Given the description of an element on the screen output the (x, y) to click on. 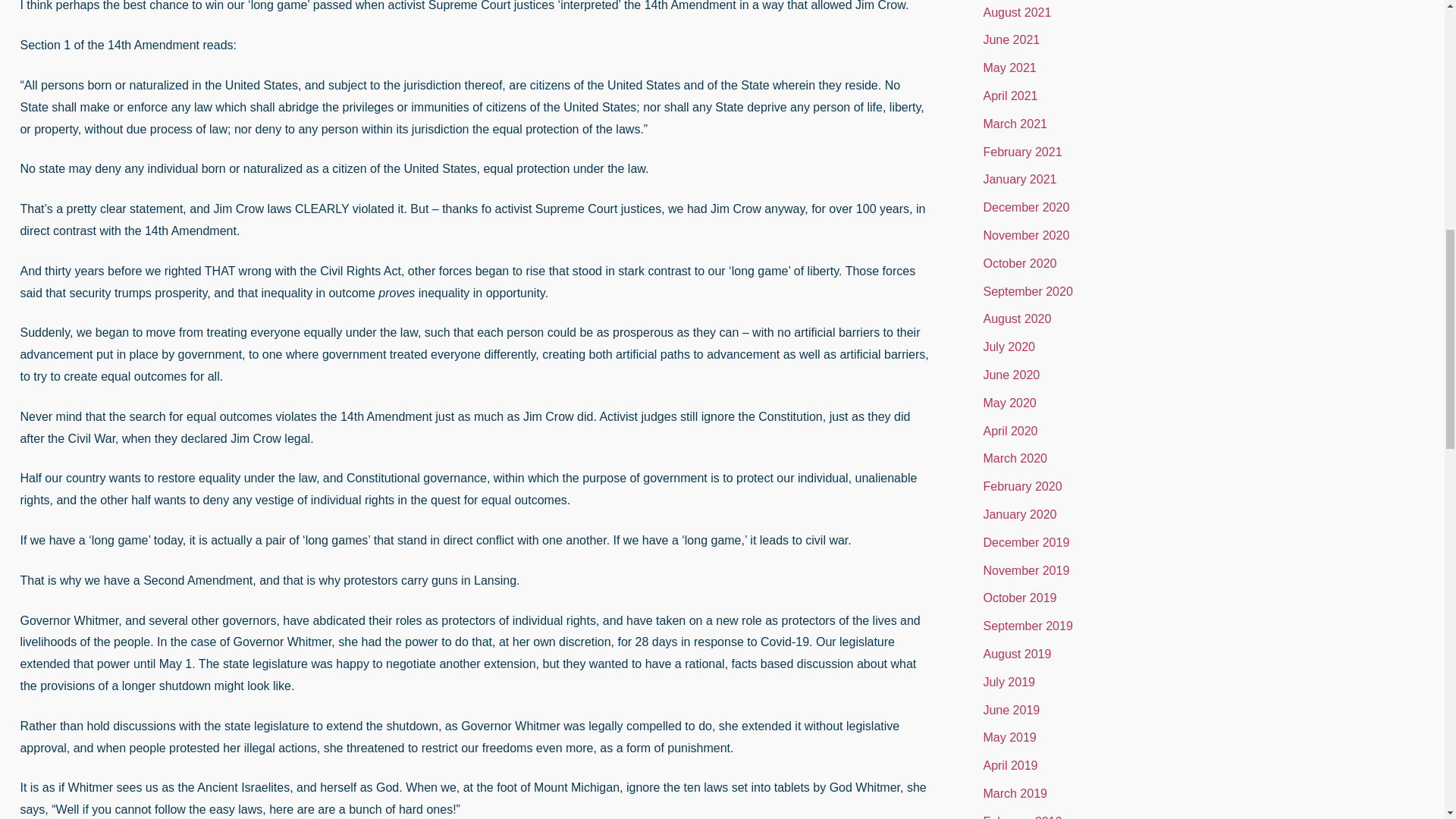
March 2021 (1014, 123)
February 2021 (1021, 151)
August 2021 (1016, 11)
May 2021 (1008, 67)
June 2021 (1010, 39)
January 2021 (1019, 178)
April 2021 (1009, 95)
